Given the description of an element on the screen output the (x, y) to click on. 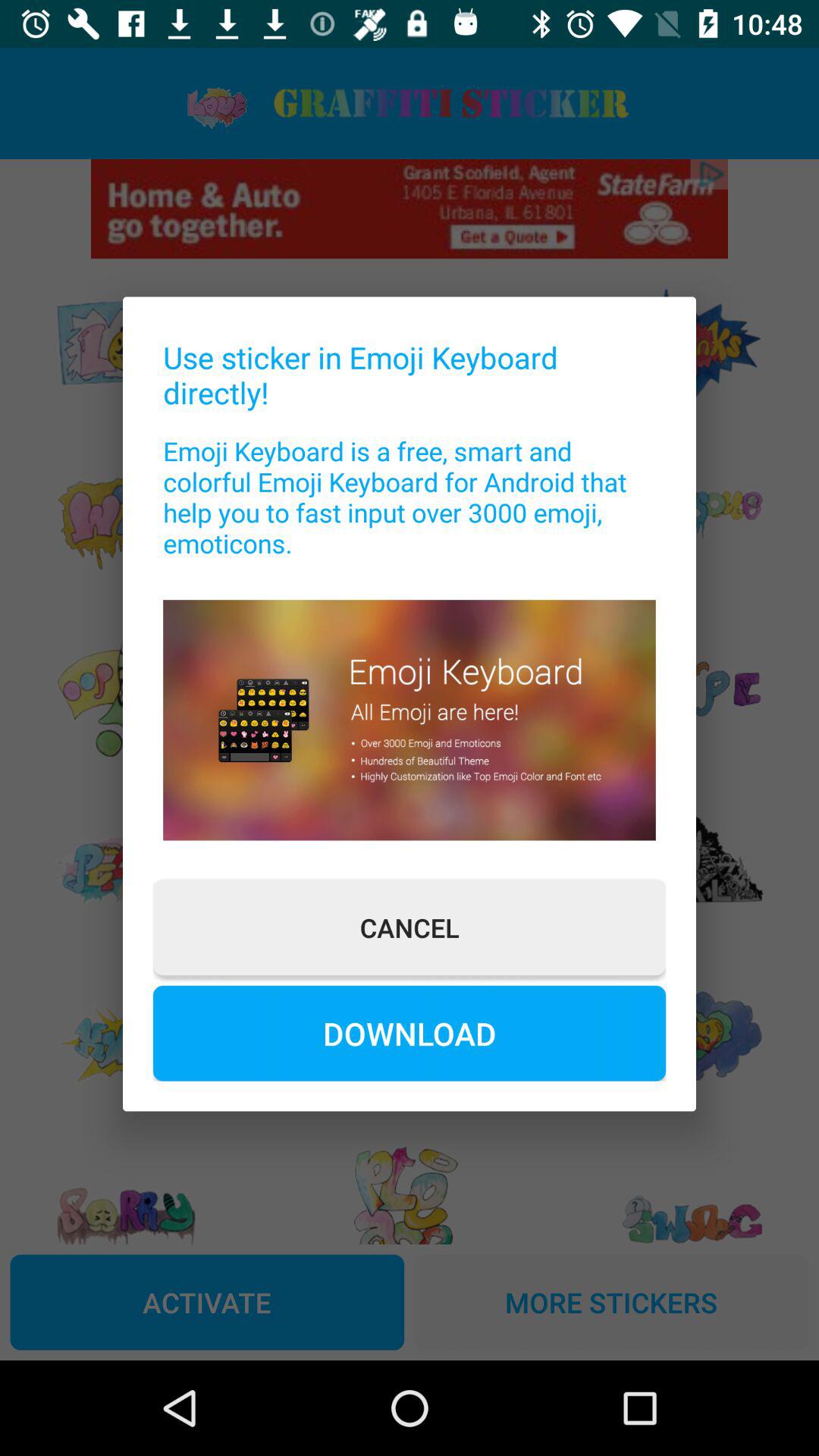
jump to cancel button (409, 927)
